Given the description of an element on the screen output the (x, y) to click on. 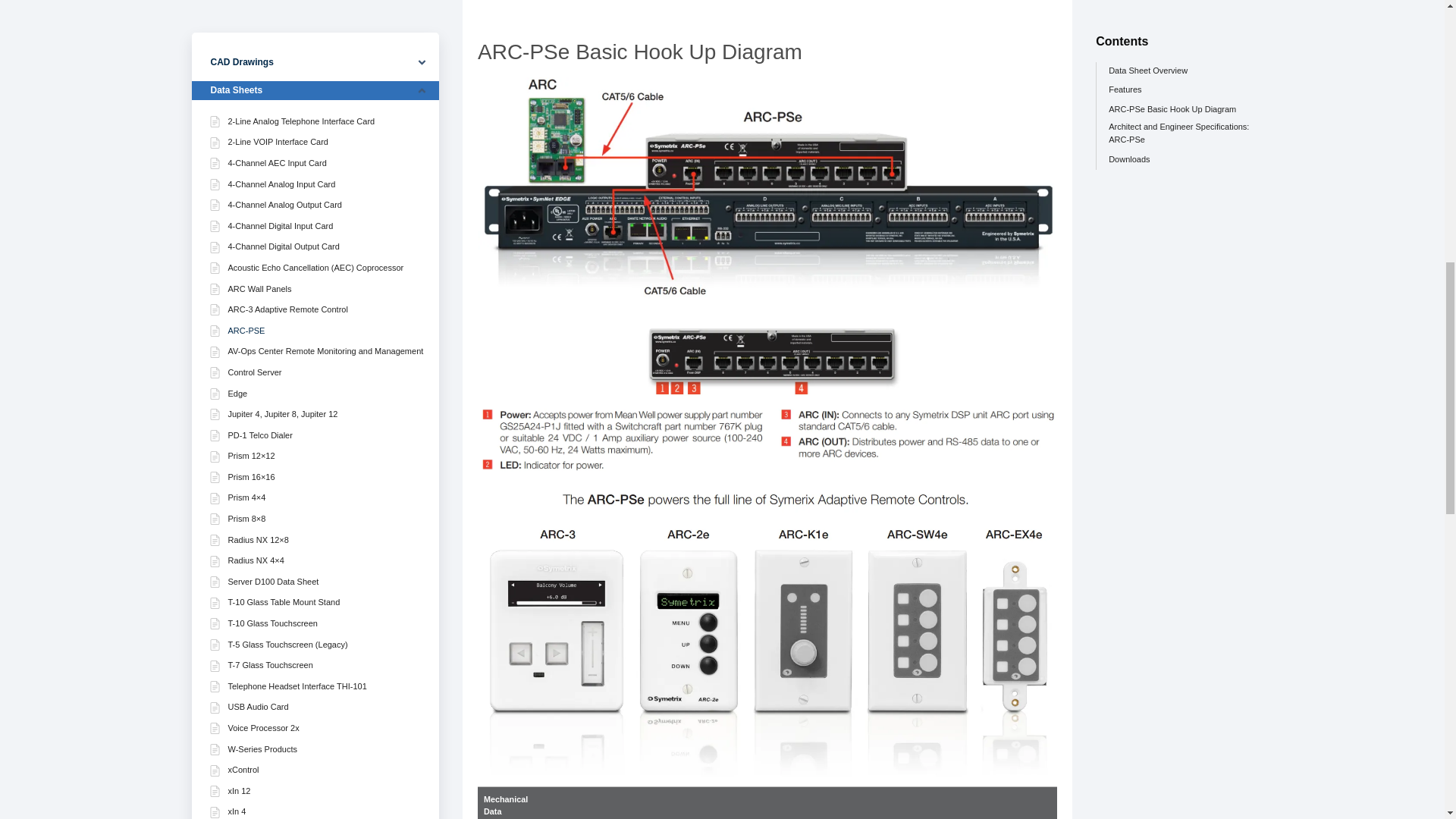
Pic3-7 - Symetrix (767, 398)
